Given the description of an element on the screen output the (x, y) to click on. 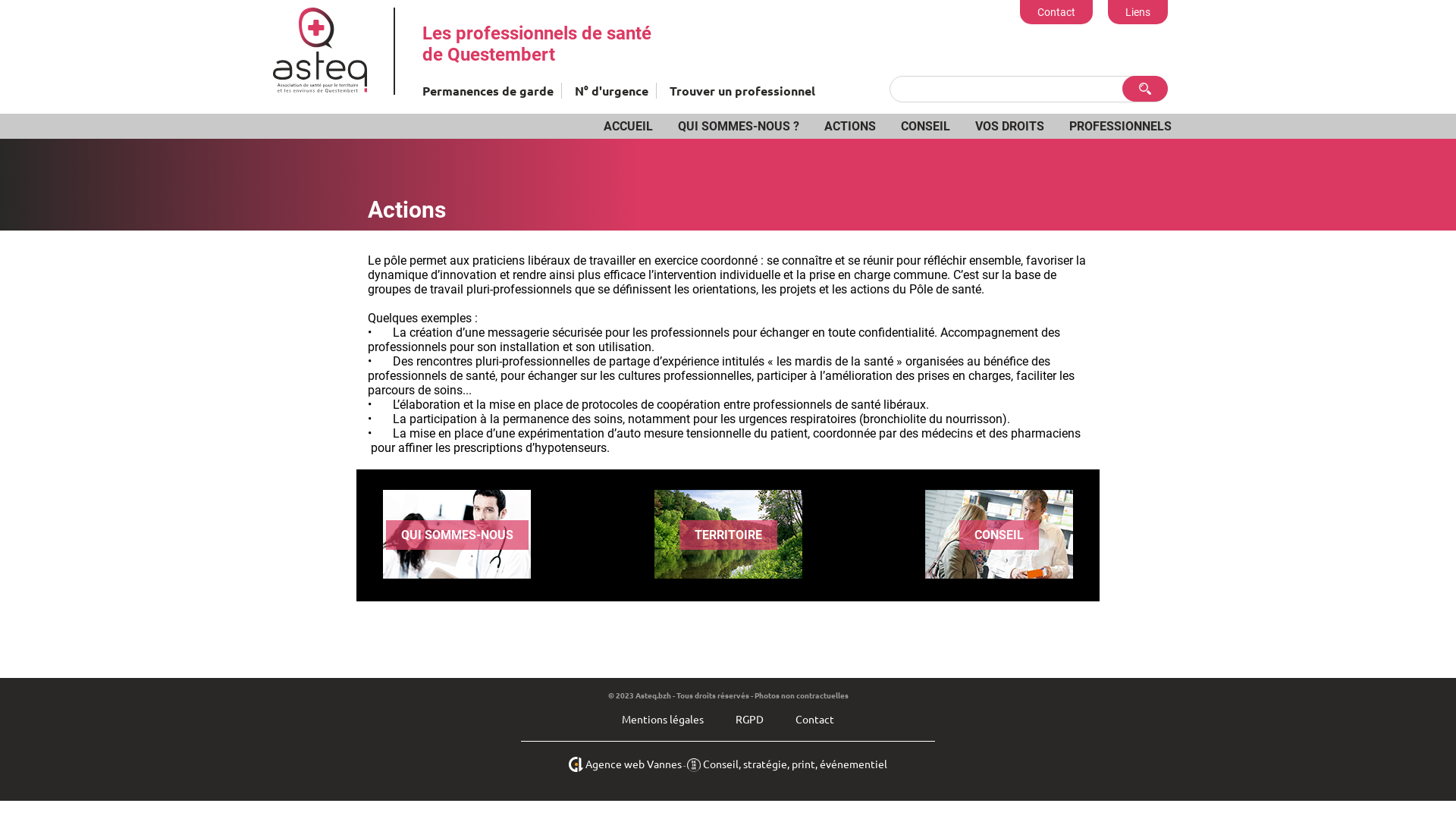
CONSEIL Element type: text (998, 534)
PROFESSIONNELS Element type: text (1120, 125)
Agence web Vannes Element type: text (633, 763)
ACTIONS Element type: text (849, 125)
Agence web sites Internet et applications Element type: hover (576, 763)
Permanences de garde Element type: text (487, 90)
Contact Element type: text (1055, 12)
Liens Element type: text (1137, 12)
TERRITOIRE Element type: text (727, 534)
QUI SOMMES-NOUS ? Element type: text (738, 125)
Aller au contenu principal Element type: text (59, 0)
Contact Element type: text (814, 718)
RGPD Element type: text (749, 718)
ACCUEIL Element type: text (628, 125)
CONSEIL Element type: text (925, 125)
Rechercher Element type: text (1144, 88)
QUI SOMMES-NOUS Element type: text (456, 534)
VOS DROITS Element type: text (1009, 125)
Ekinox Communication Element type: hover (695, 763)
Trouver un professionnel Element type: text (742, 90)
